Given the description of an element on the screen output the (x, y) to click on. 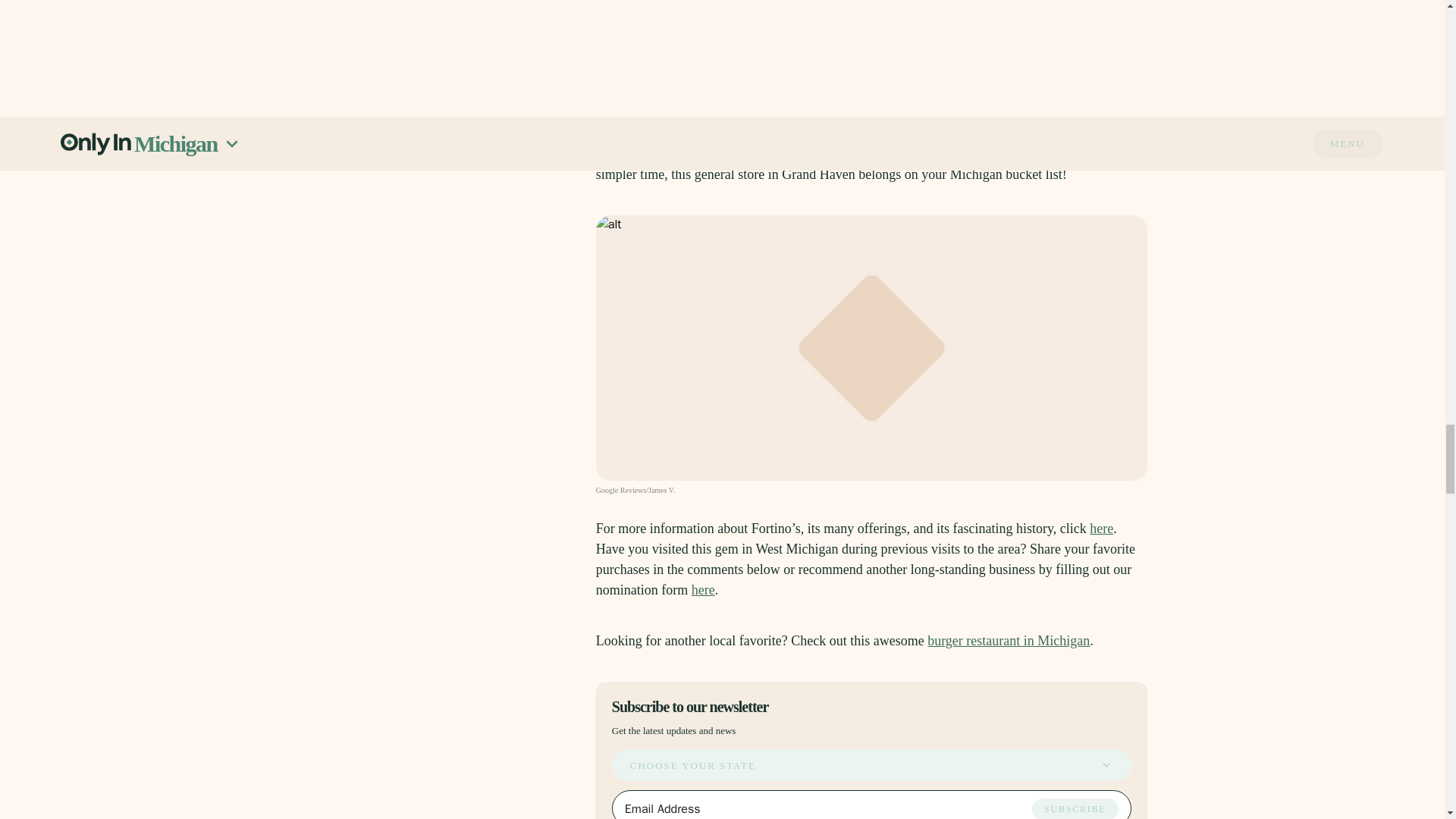
burger restaurant in Michigan (1008, 640)
SUBSCRIBE (1075, 808)
here (702, 589)
here (1101, 528)
CHOOSE YOUR STATE (871, 765)
